Given the description of an element on the screen output the (x, y) to click on. 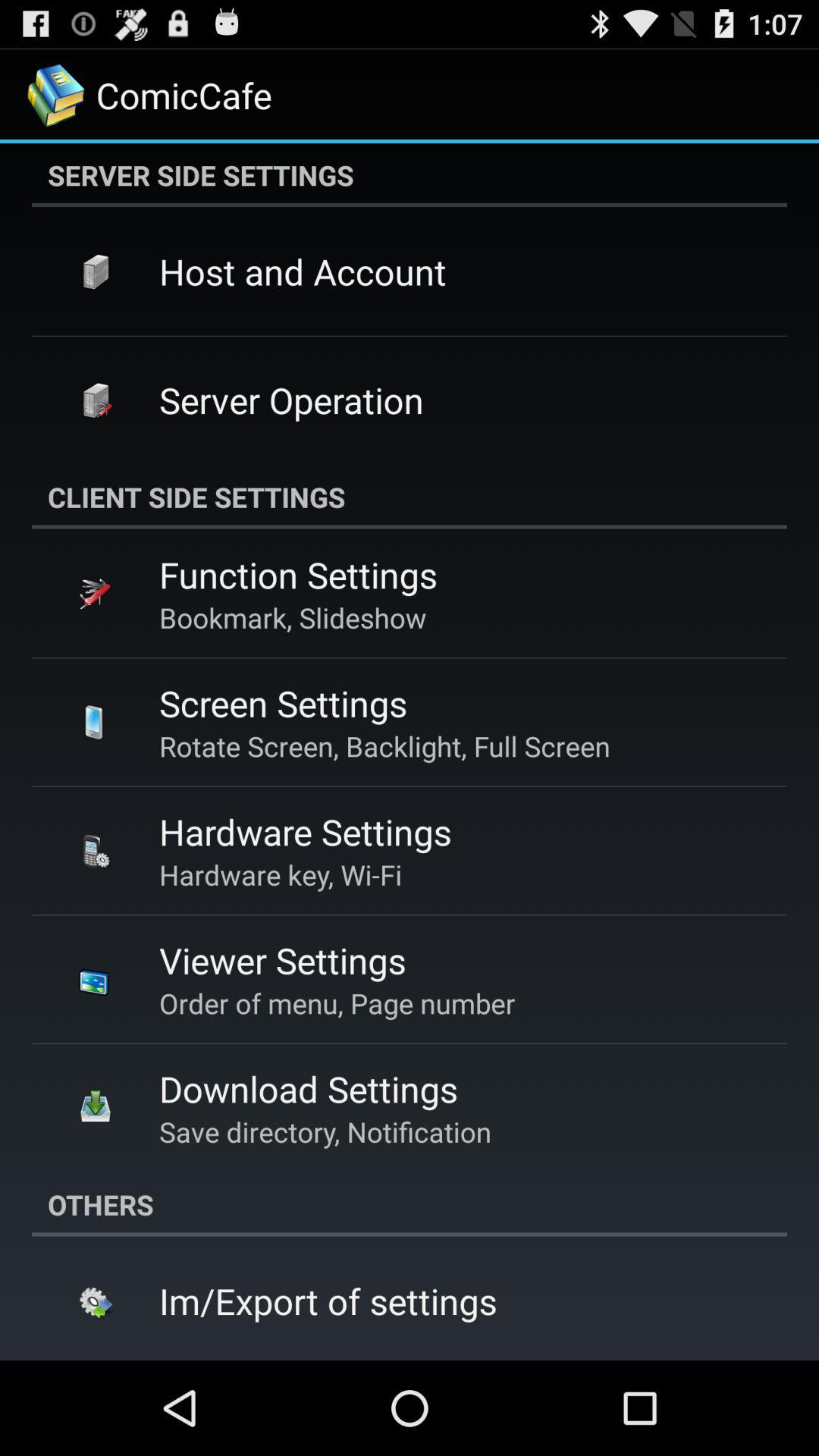
launch the icon below rotate screen backlight item (305, 831)
